Given the description of an element on the screen output the (x, y) to click on. 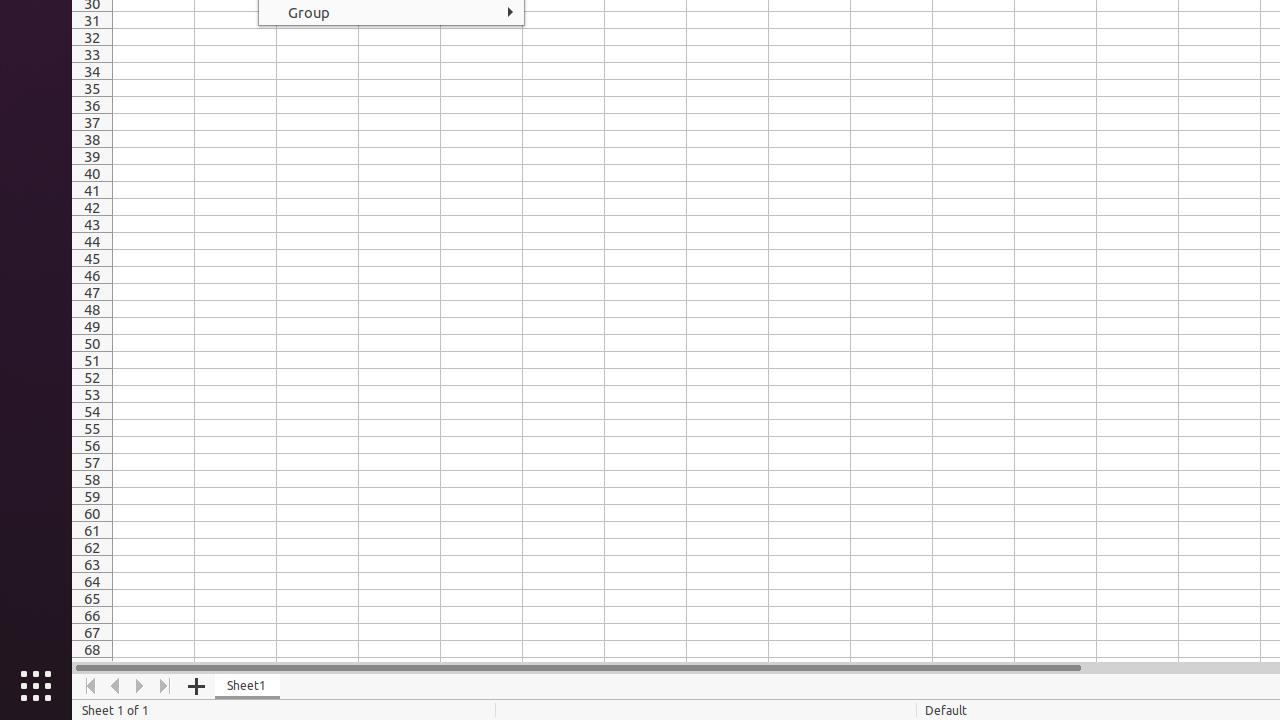
Move To End Element type: push-button (165, 686)
Show Applications Element type: toggle-button (36, 686)
Move Left Element type: push-button (115, 686)
Move Right Element type: push-button (140, 686)
Sheet1 Element type: page-tab (247, 686)
